Given the description of an element on the screen output the (x, y) to click on. 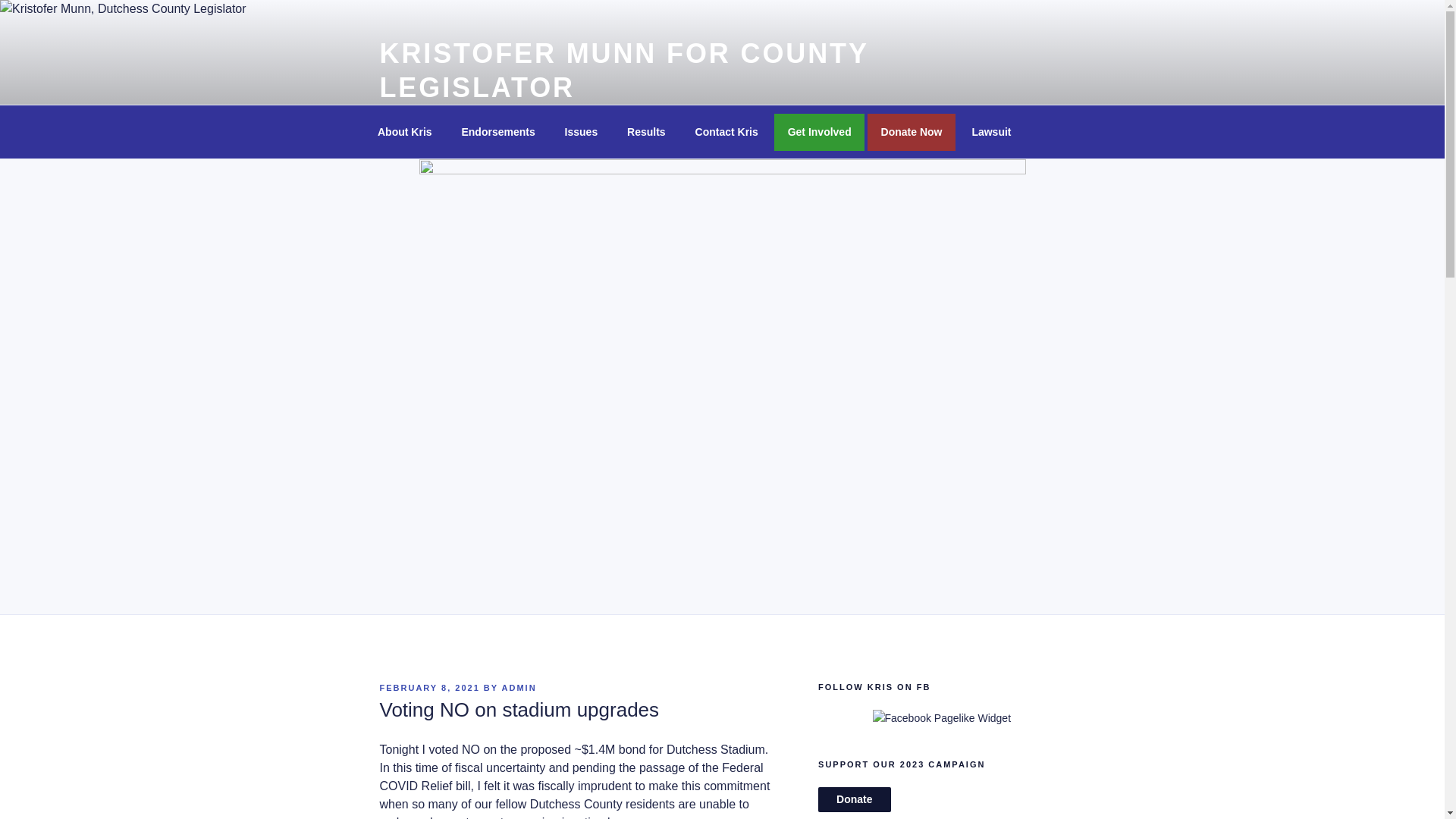
Endorsements (498, 131)
Donate (853, 799)
Contact Kris (726, 131)
Results (646, 131)
ADMIN (519, 687)
KRISTOFER MUNN FOR COUNTY LEGISLATOR (622, 70)
FEBRUARY 8, 2021 (428, 687)
Issues (581, 131)
Lawsuit (991, 131)
Get Involved (819, 131)
Donate Now (911, 131)
About Kris (404, 131)
